Given the description of an element on the screen output the (x, y) to click on. 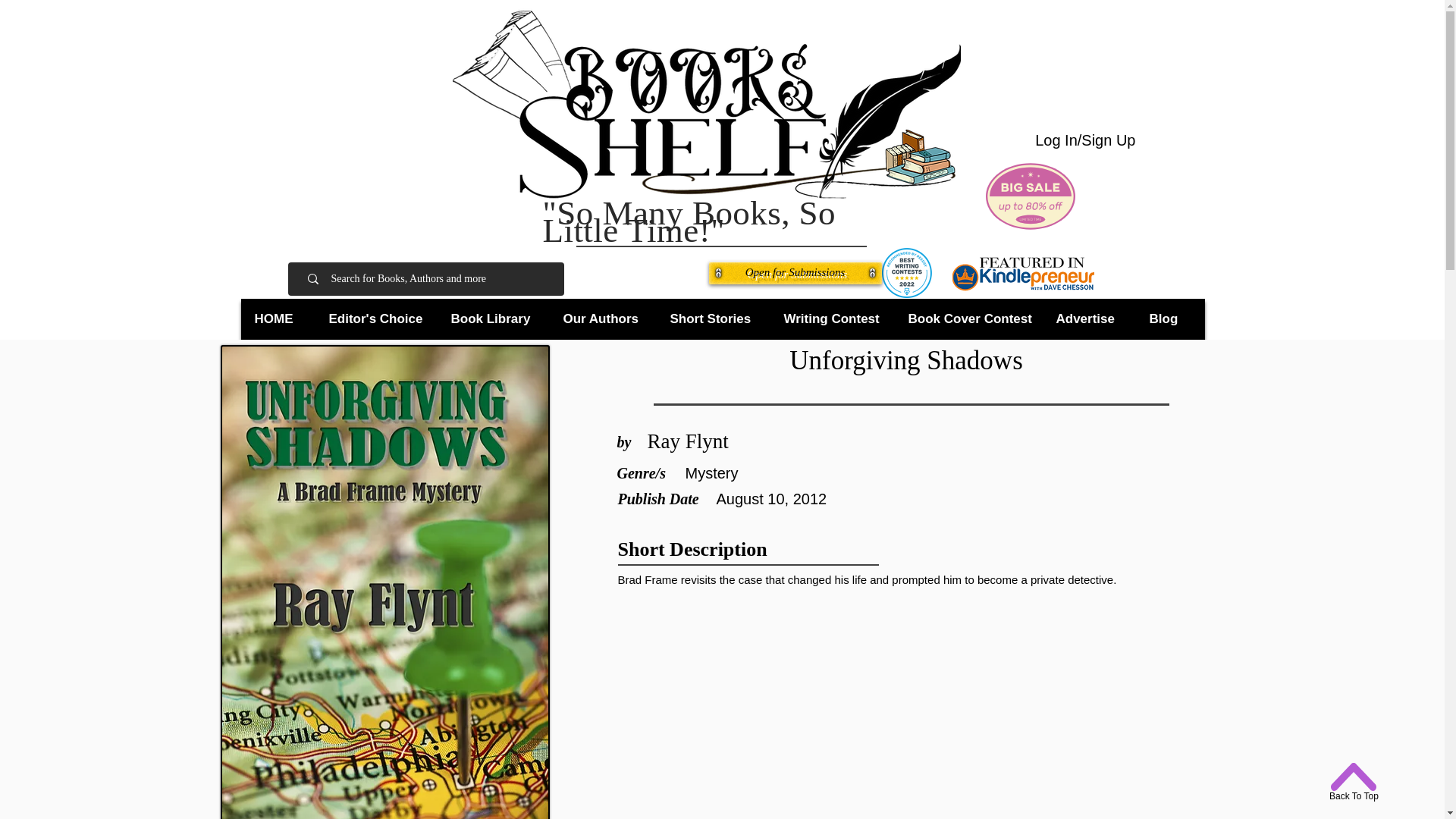
Short Stories (714, 319)
HOME (279, 319)
Editor's Choice (378, 319)
BooksShelf (705, 104)
